Given the description of an element on the screen output the (x, y) to click on. 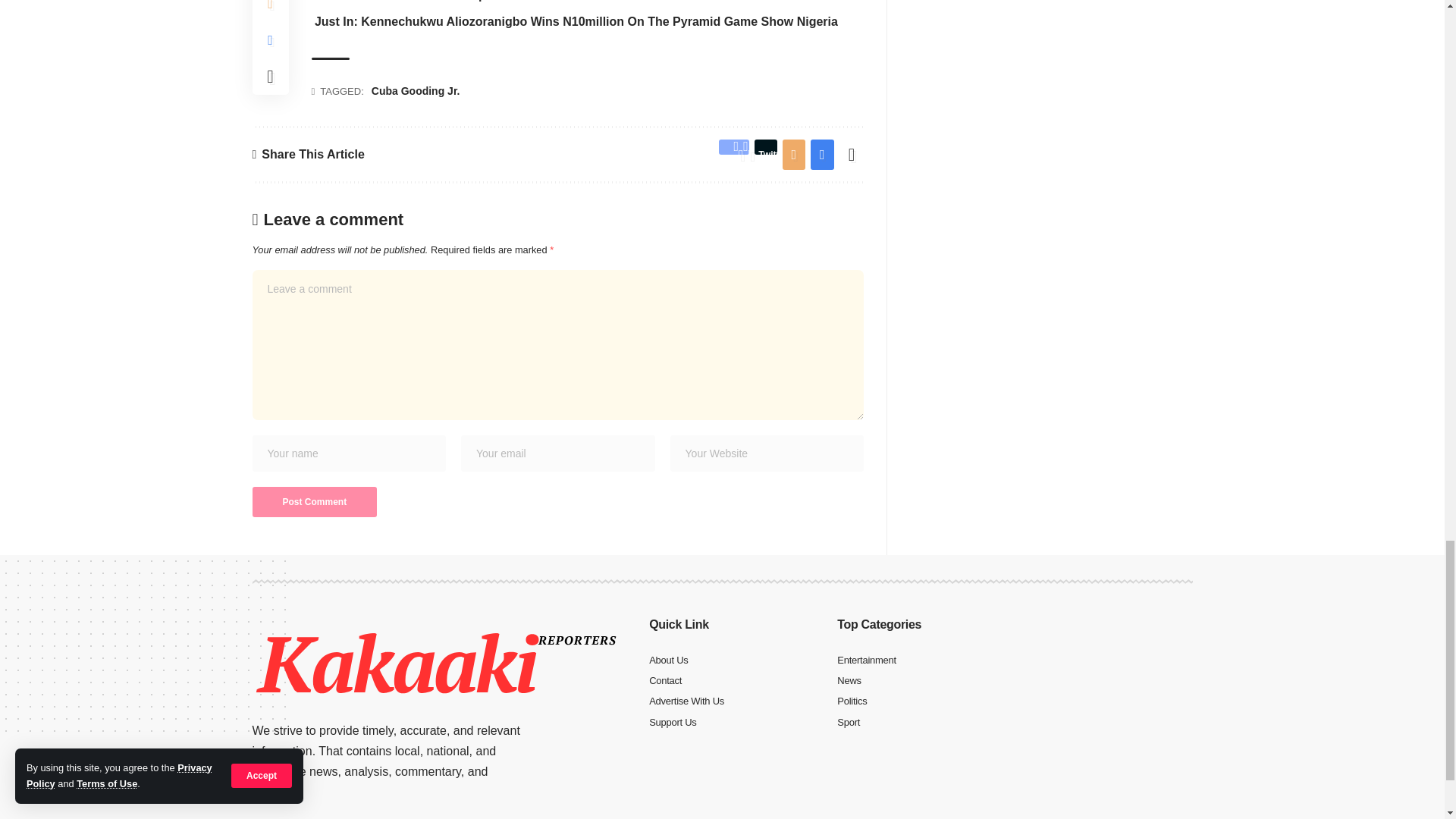
Post Comment (314, 501)
